Given the description of an element on the screen output the (x, y) to click on. 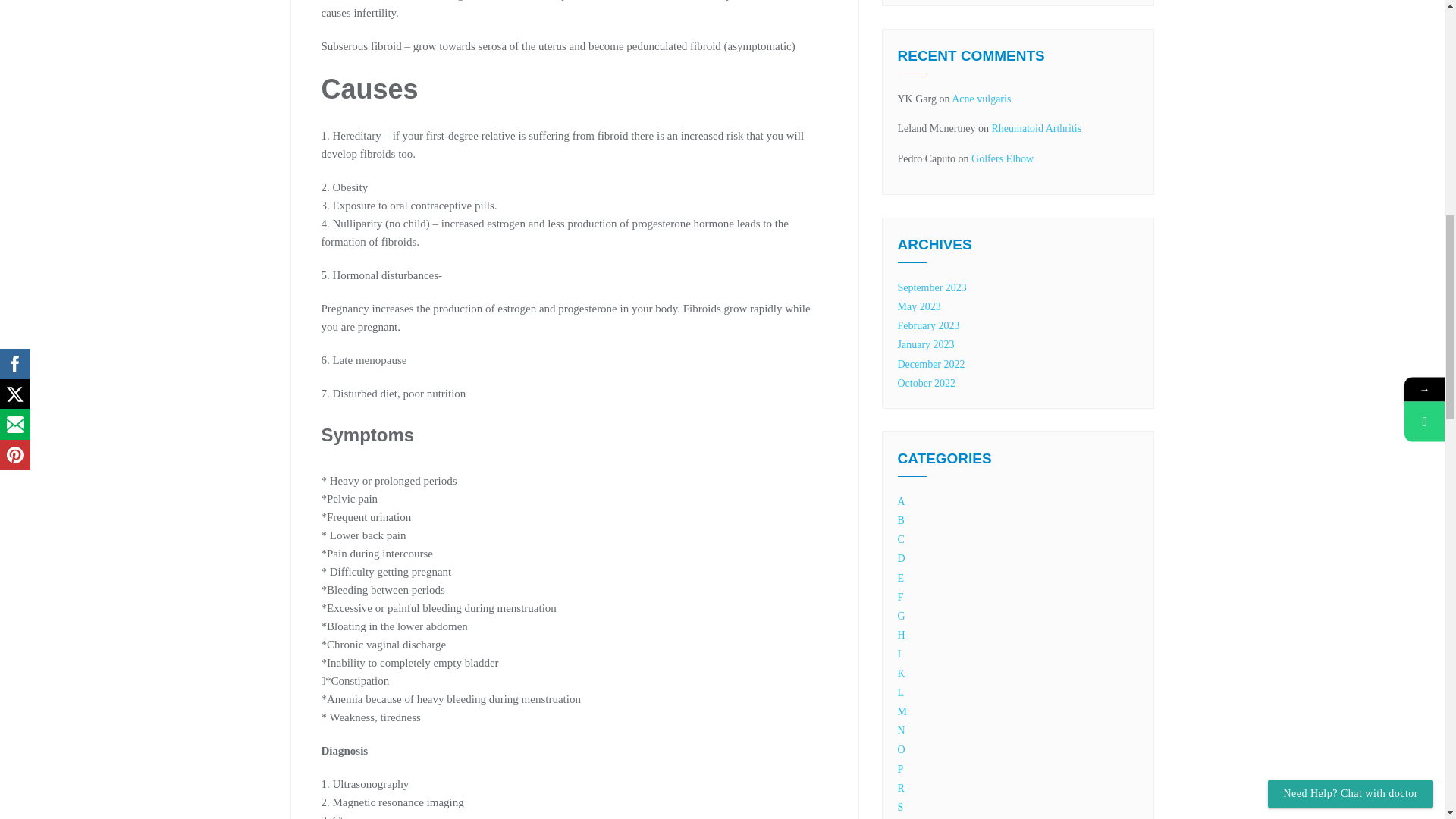
Rheumatoid Arthritis (1036, 128)
September 2023 (932, 287)
Acne vulgaris (981, 98)
Golfers Elbow (1002, 158)
